Given the description of an element on the screen output the (x, y) to click on. 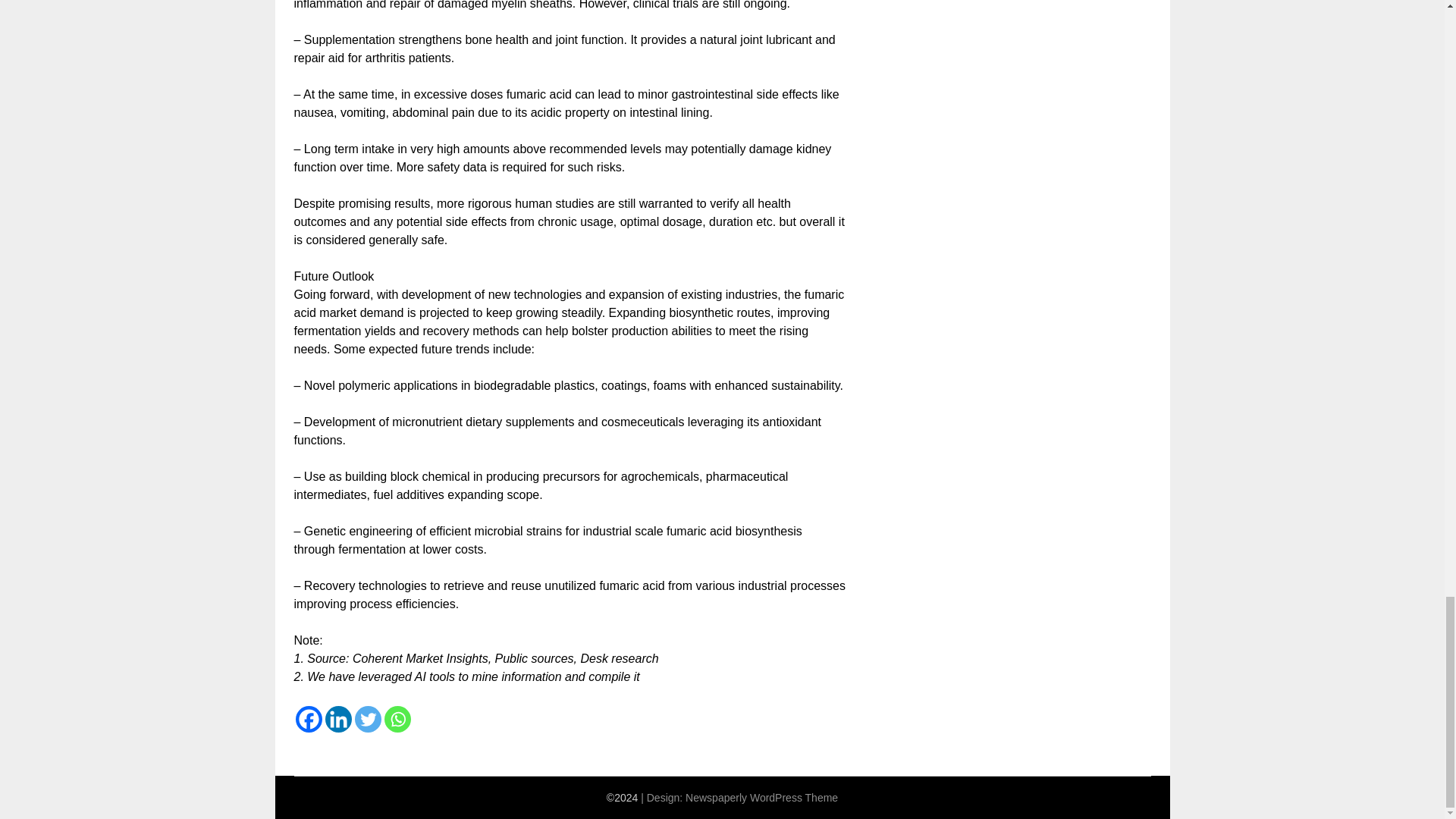
Whatsapp (397, 718)
Linkedin (337, 718)
Newspaperly WordPress Theme (761, 797)
Facebook (308, 718)
Twitter (368, 718)
